Given the description of an element on the screen output the (x, y) to click on. 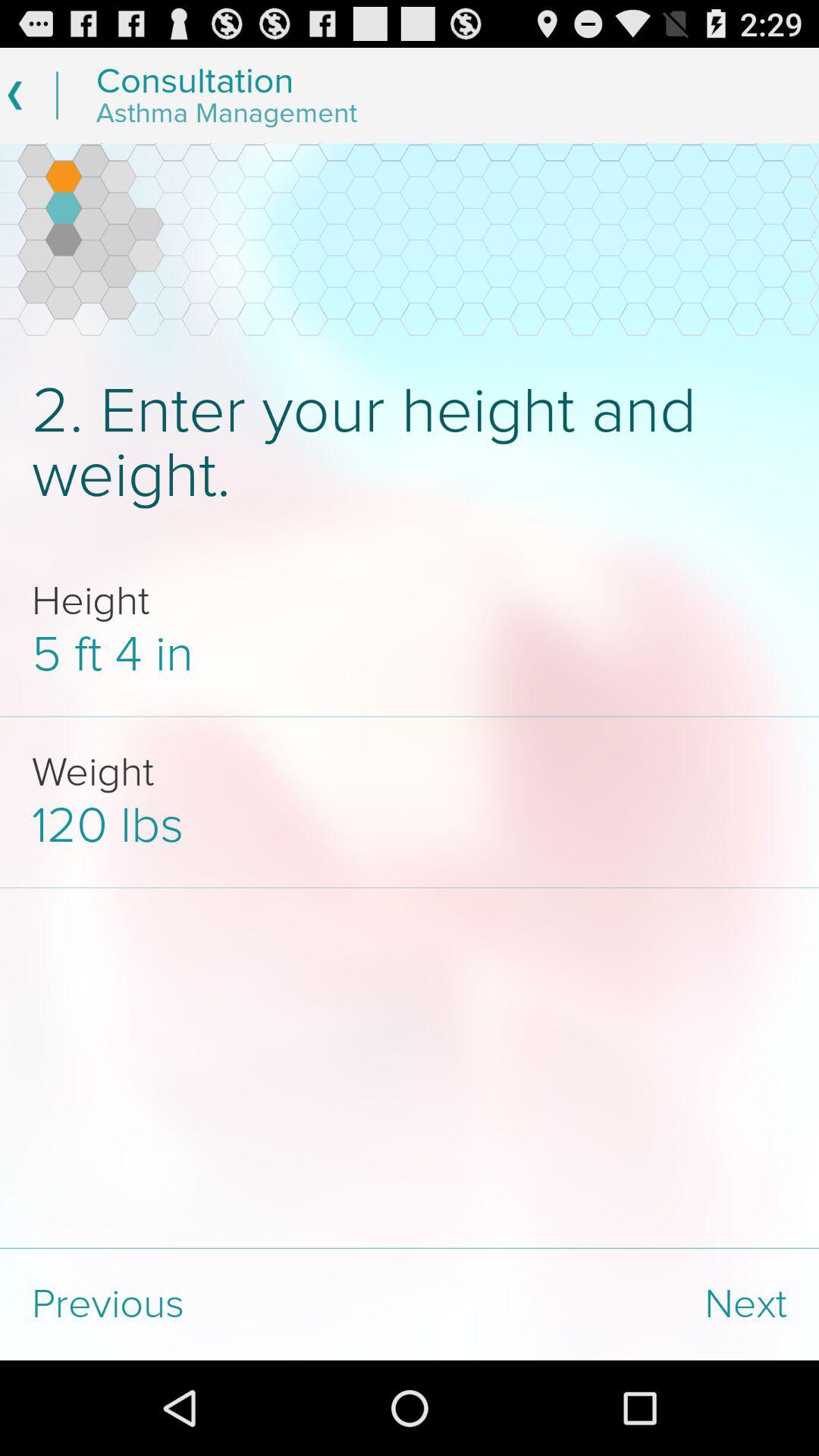
press the previous at the bottom left corner (204, 1304)
